Given the description of an element on the screen output the (x, y) to click on. 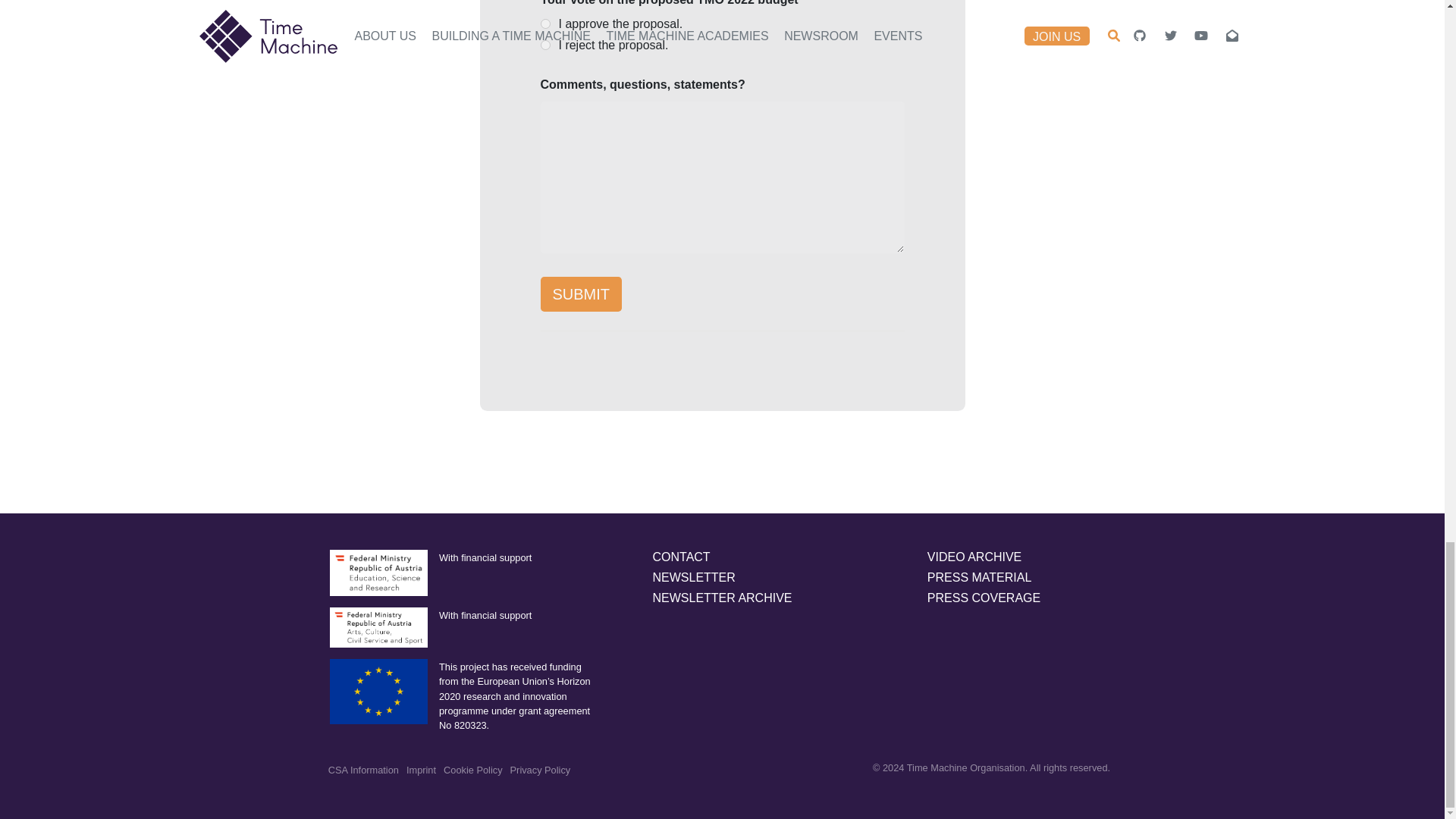
Submit (580, 294)
approve (545, 23)
reject (545, 44)
